Given the description of an element on the screen output the (x, y) to click on. 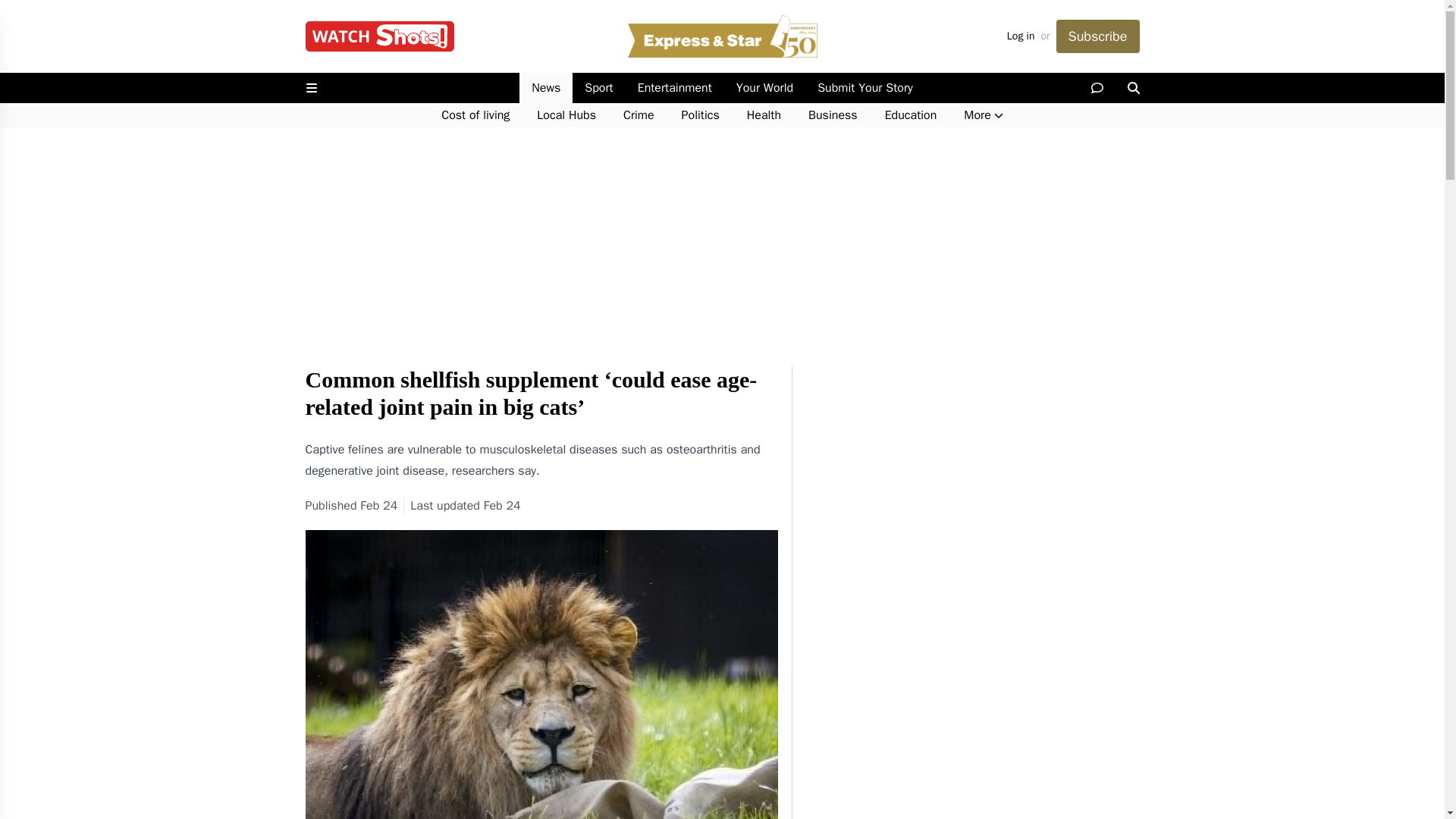
Local Hubs (566, 115)
Business (832, 115)
Sport (598, 87)
News (545, 87)
Education (910, 115)
More (983, 115)
Submit Your Story (864, 87)
Subscribe (1096, 36)
Your World (764, 87)
Log in (1021, 36)
Crime (638, 115)
Entertainment (674, 87)
Politics (700, 115)
Cost of living (475, 115)
